Given the description of an element on the screen output the (x, y) to click on. 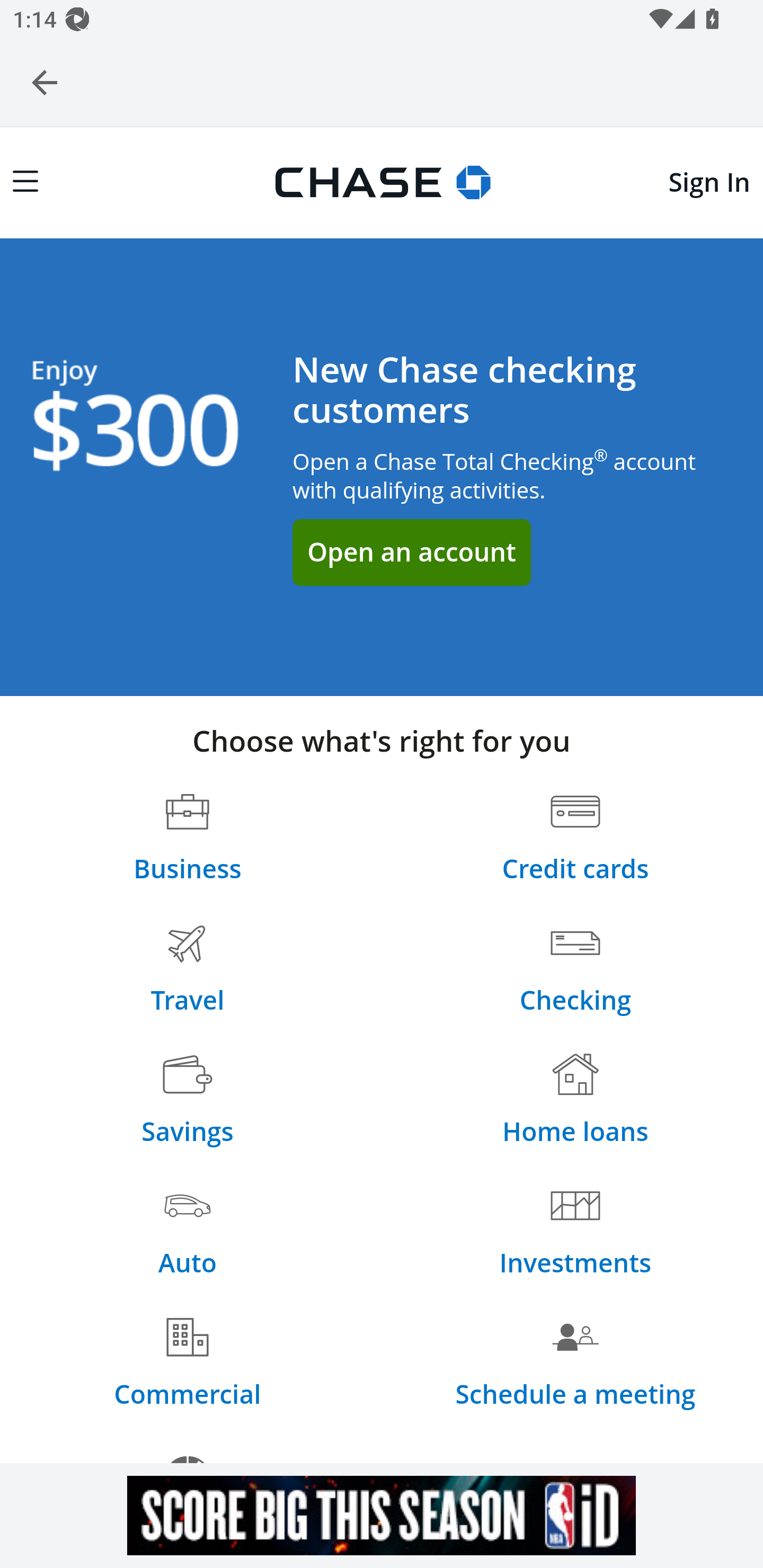
Navigate up (44, 82)
Chase logo, links to Chase home (381, 178)
Open Side Menu (25, 182)
Sign In (708, 182)
Open an account (411, 551)
Business (187, 839)
Credit cards (575, 839)
Travel (187, 970)
Checking (575, 970)
Savings (187, 1101)
Home loans (575, 1101)
Auto (187, 1232)
Investments (575, 1232)
Commercial (187, 1363)
Schedule a meeting (574, 1363)
